Given the description of an element on the screen output the (x, y) to click on. 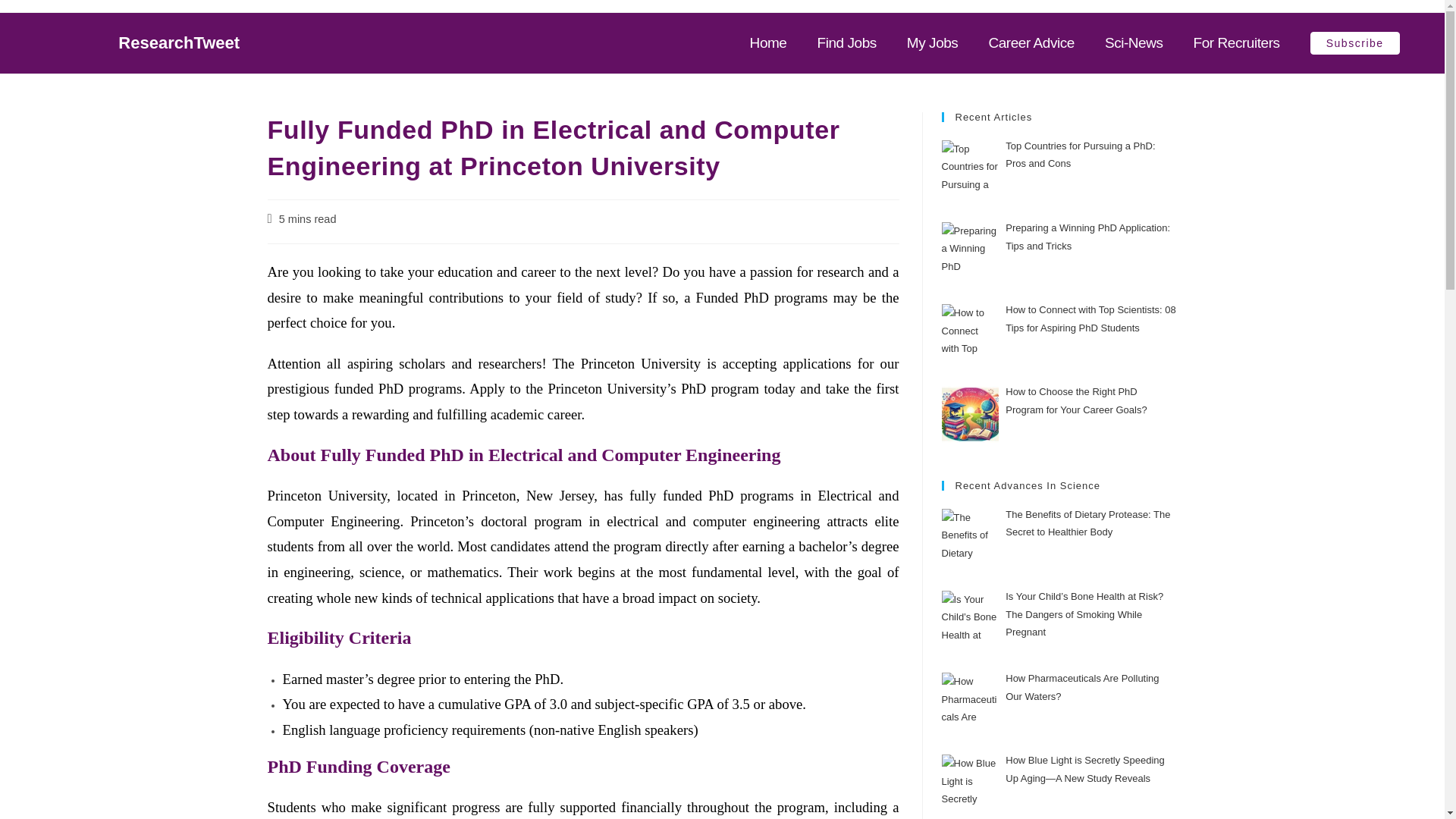
For Recruiters (1236, 43)
Find Jobs (846, 43)
My Jobs (932, 43)
Home (768, 43)
Subscribe (1354, 42)
How Pharmaceuticals Are Polluting Our Waters? (1082, 686)
Sci-News (1134, 43)
Preparing a Winning PhD Application: Tips and Tricks (1088, 235)
Top Countries for Pursuing a PhD: Pros and Cons (1080, 154)
ResearchTweet (178, 42)
Career Advice (1031, 43)
How to Choose the Right PhD Program for Your Career Goals? (1076, 399)
